Given the description of an element on the screen output the (x, y) to click on. 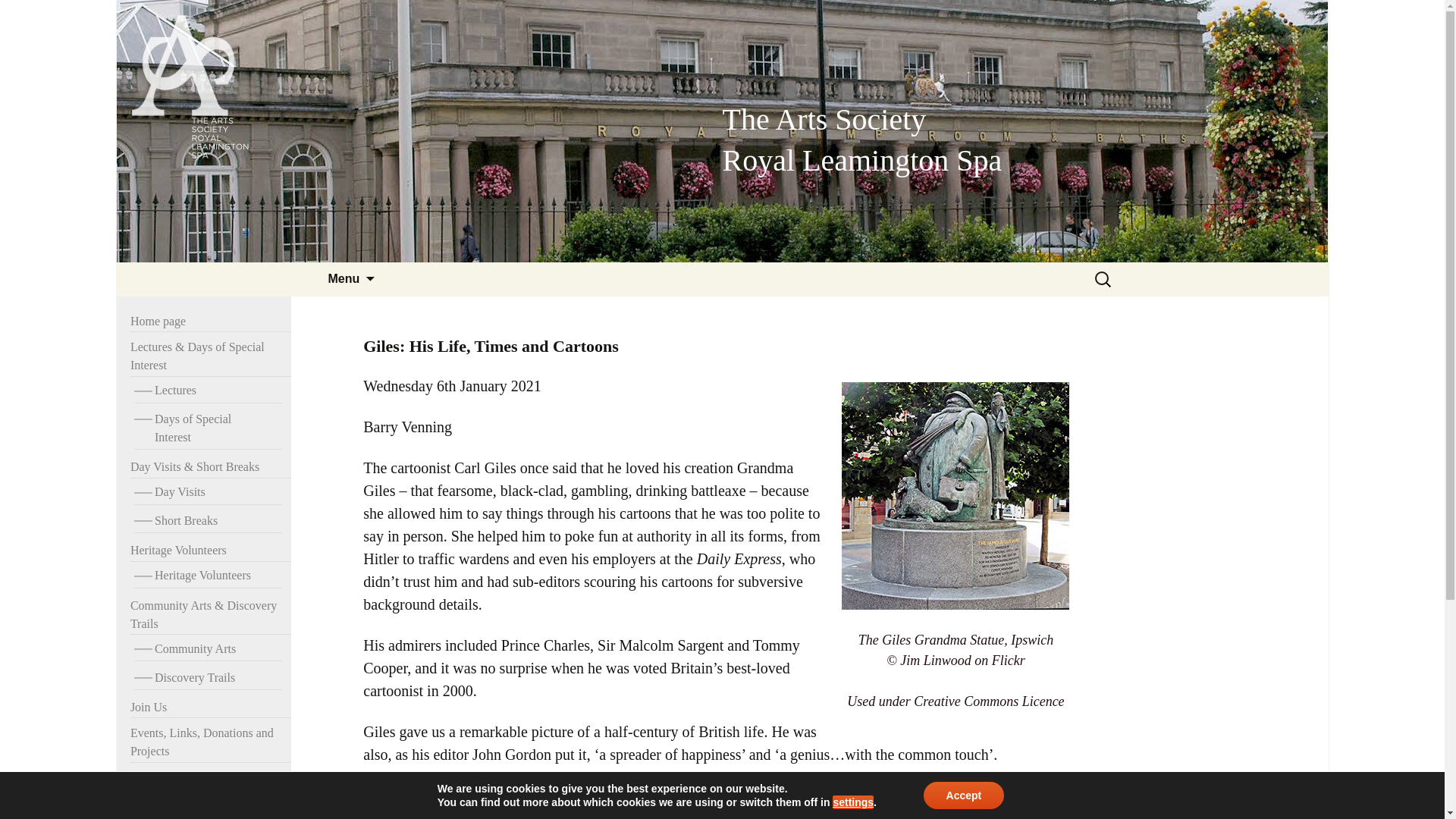
Discovery Trails (207, 649)
Lectures (207, 677)
Heritage Volunteers (207, 390)
Days of Special Interest (207, 576)
Heritage Volunteers (207, 428)
Menu (211, 550)
The Arts Society (343, 279)
